Given the description of an element on the screen output the (x, y) to click on. 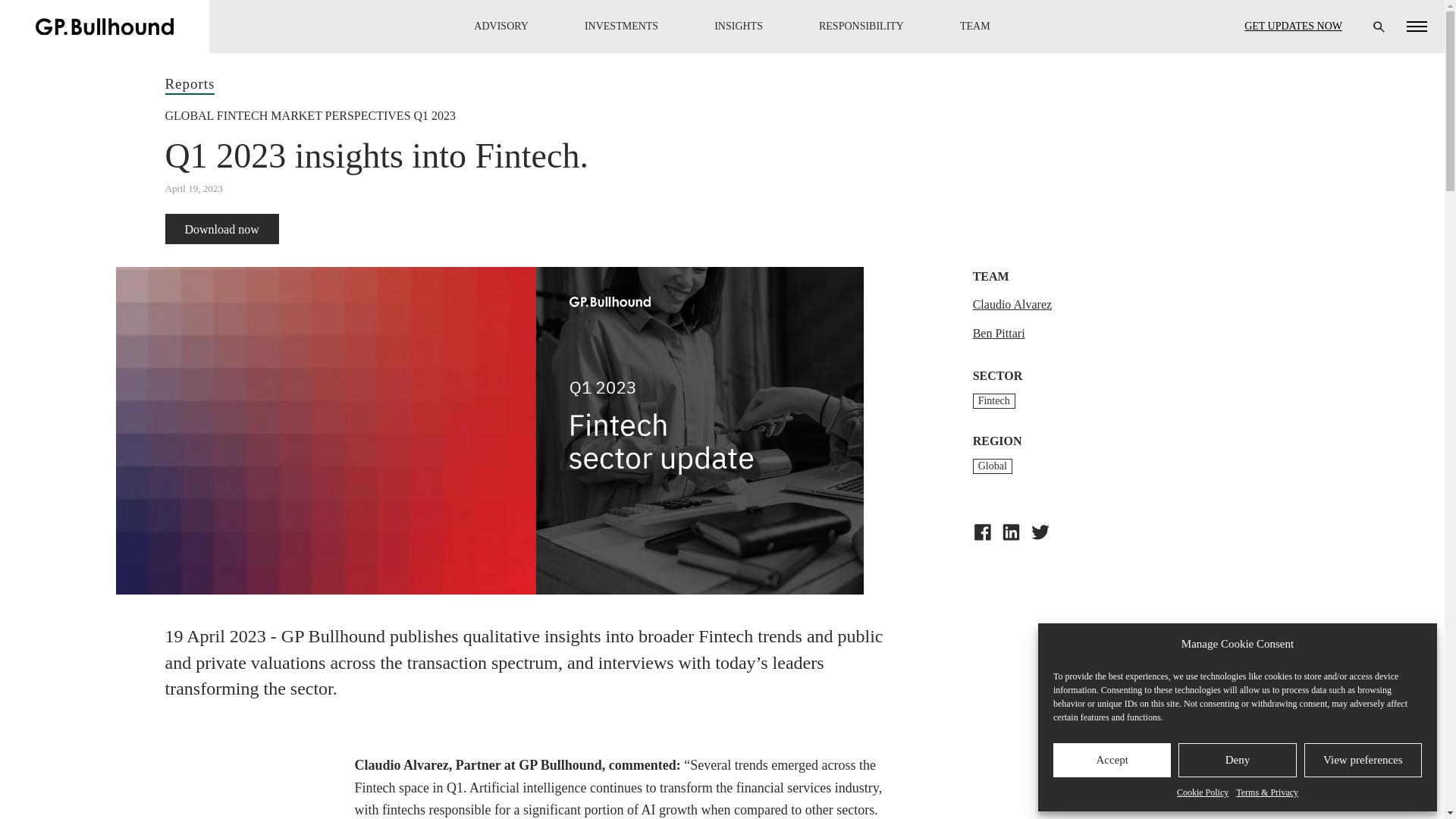
View preferences (1363, 759)
ADVISORY (500, 26)
INSIGHTS (737, 26)
TEAM (974, 26)
GET UPDATES NOW (1293, 26)
Cookie Policy (1202, 792)
RESPONSIBILITY (860, 26)
INVESTMENTS (620, 26)
Accept (1111, 759)
Deny (1236, 759)
